Given the description of an element on the screen output the (x, y) to click on. 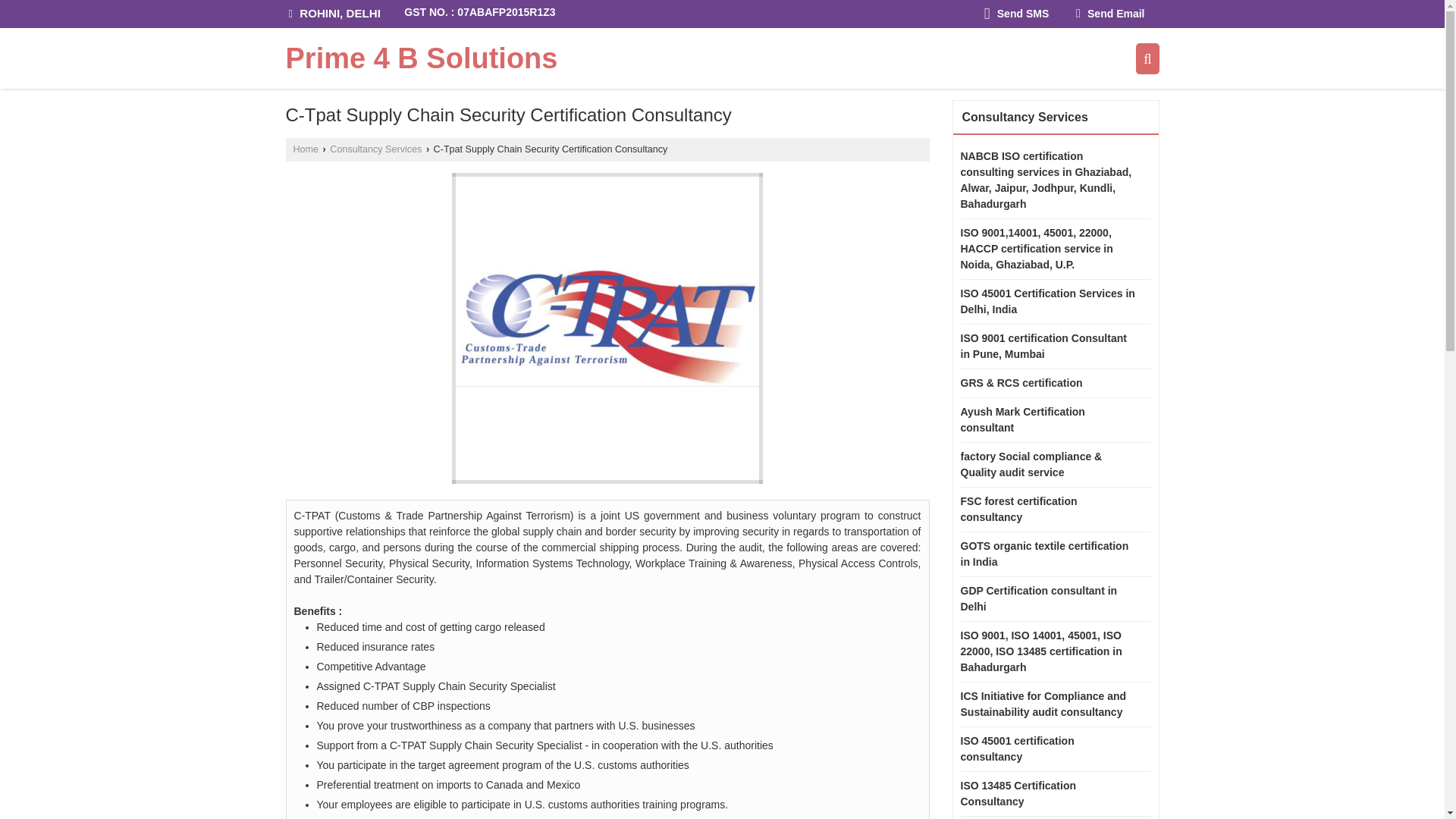
Prime 4 B Solutions (421, 58)
Prime 4 B Solutions (421, 58)
Send Email (1110, 14)
Send SMS (1015, 14)
